Given the description of an element on the screen output the (x, y) to click on. 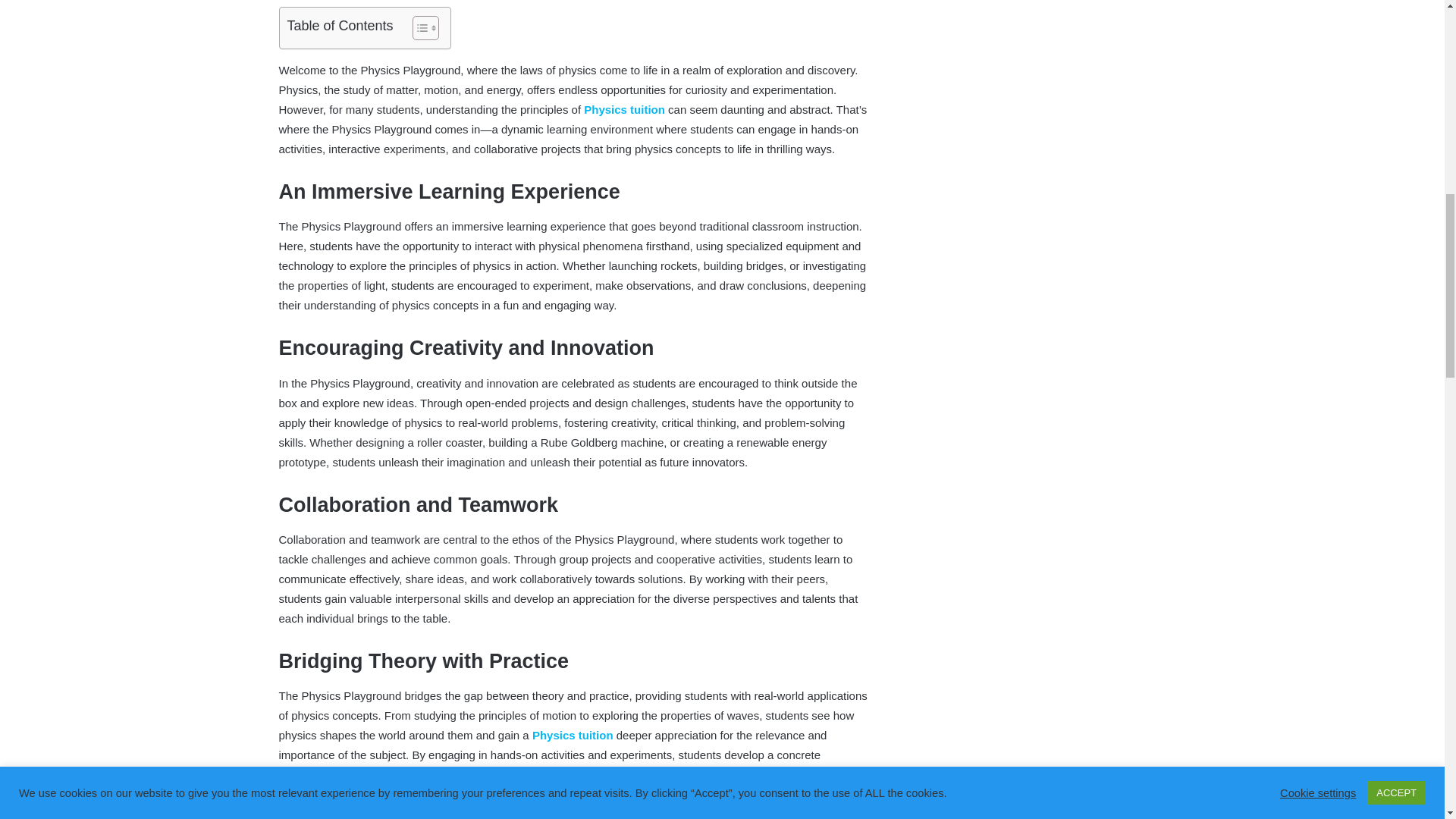
Physics tuition (572, 735)
Physics tuition (624, 109)
